Given the description of an element on the screen output the (x, y) to click on. 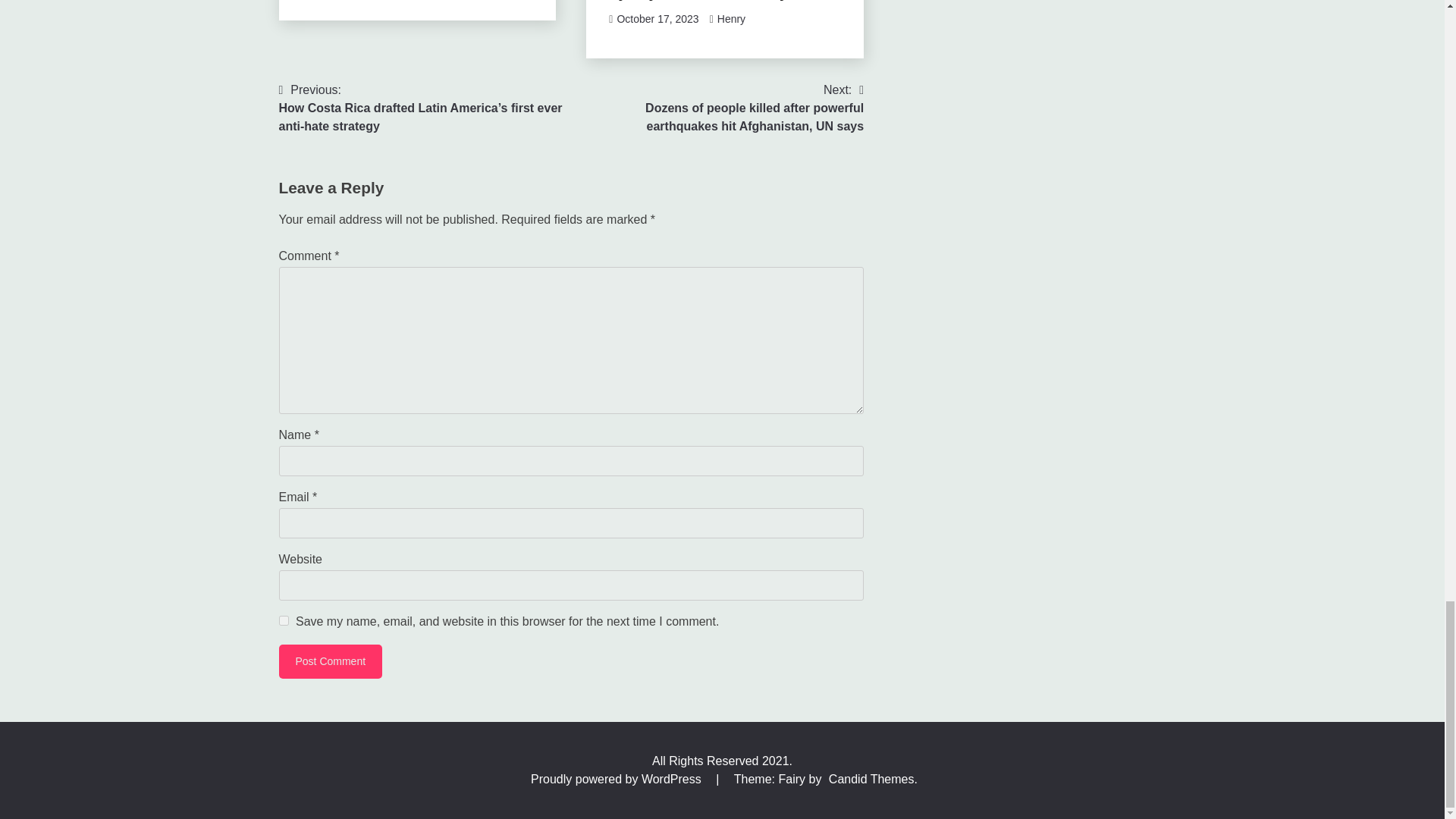
Henry (731, 19)
October 17, 2023 (656, 19)
Post Comment (330, 661)
yes (283, 620)
